Given the description of an element on the screen output the (x, y) to click on. 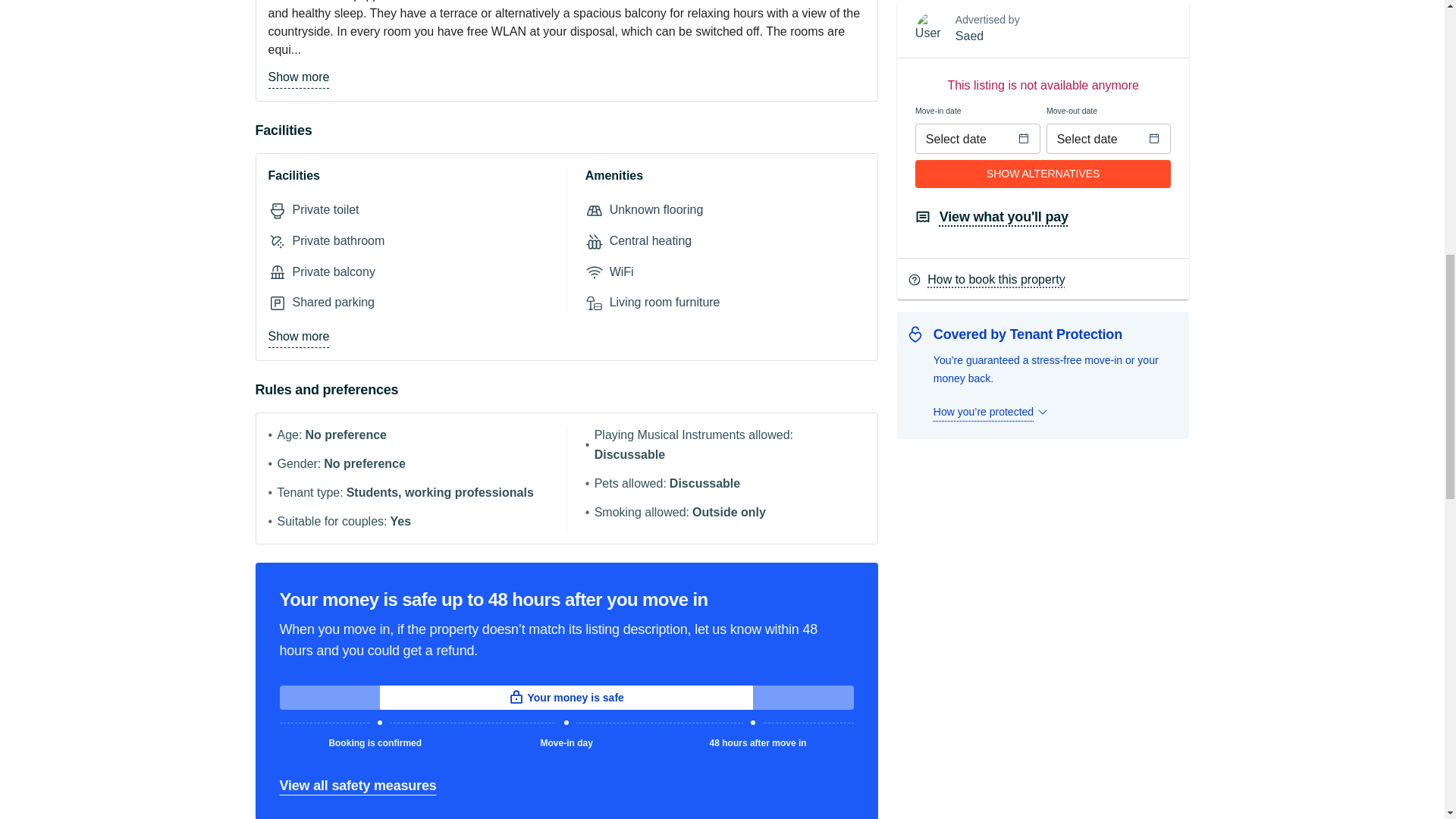
Show more (298, 77)
View all safety measures (357, 785)
Show more (298, 336)
